Given the description of an element on the screen output the (x, y) to click on. 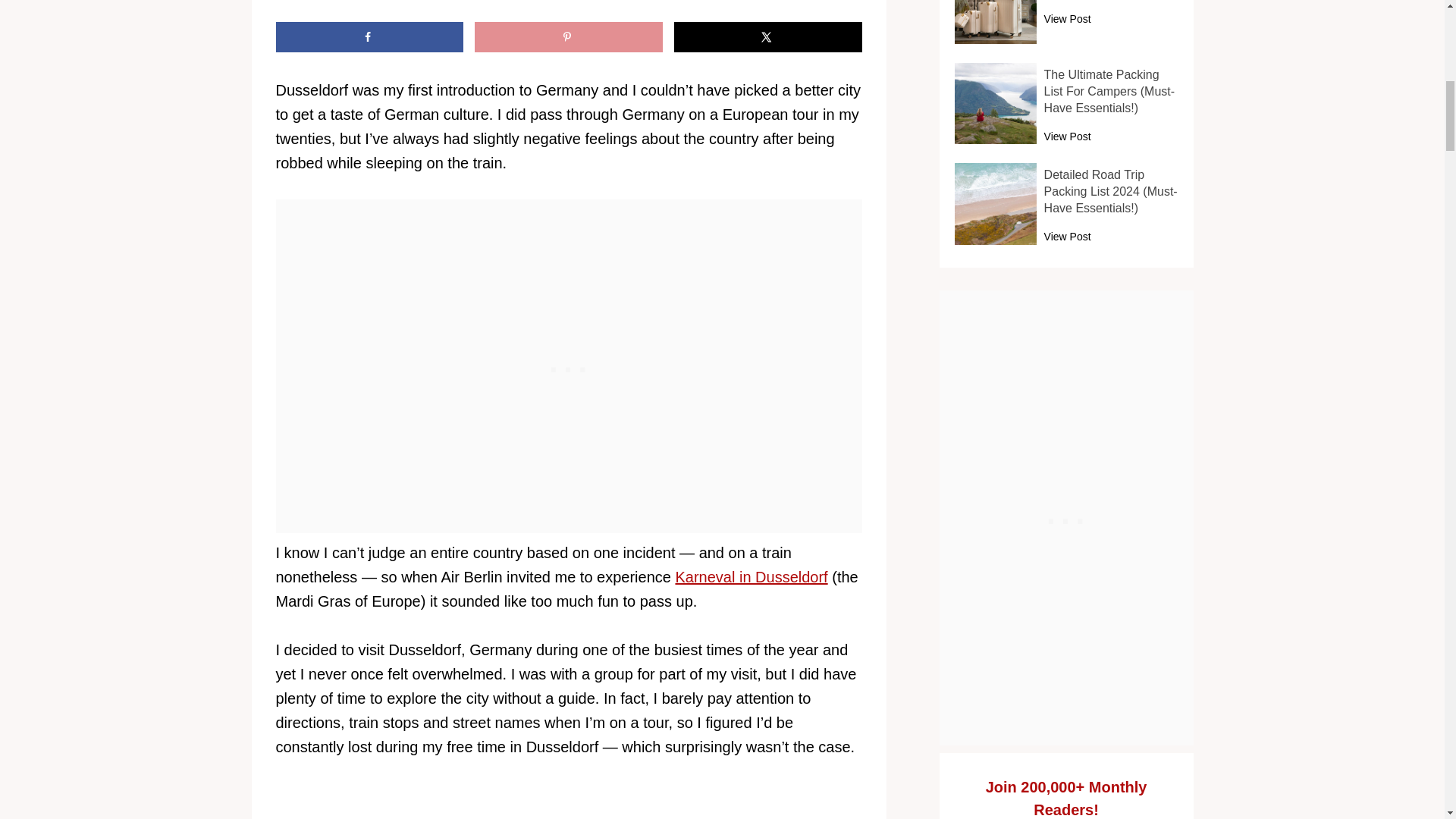
Share on X (767, 37)
Share on Facebook (369, 37)
Karneval in Dusseldorf (751, 576)
Save to Pinterest (568, 37)
